Given the description of an element on the screen output the (x, y) to click on. 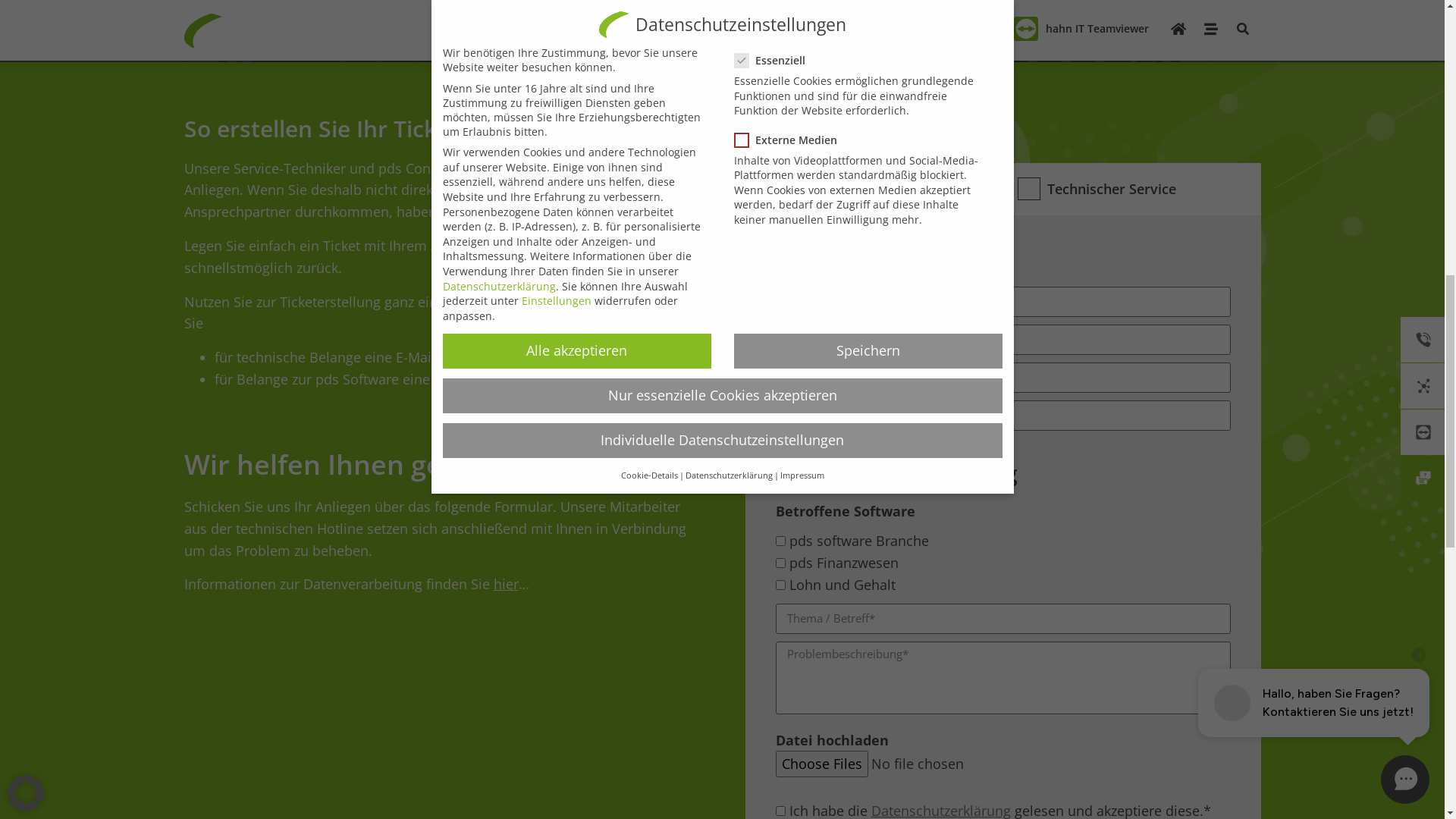
0911 / 95 88 95-88 Element type: text (598, 394)
Hahn IT - TeamViewer herunterladen Element type: text (1113, 776)
hilfe@hahn.cc Element type: text (585, 450)
